Given the description of an element on the screen output the (x, y) to click on. 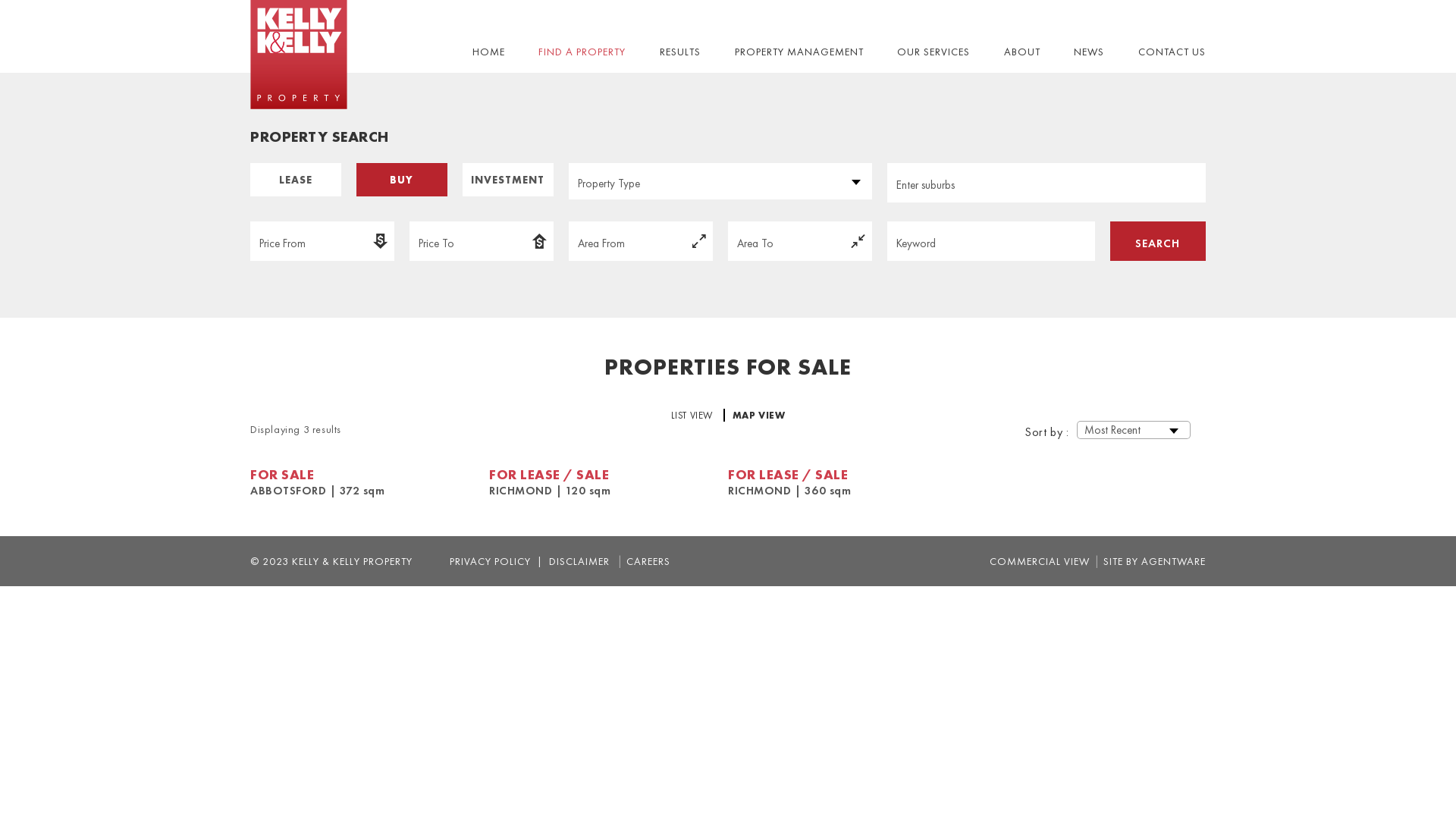
Enter suburb, postcode Element type: hover (1046, 182)
NEWS Element type: text (1088, 51)
Search Element type: text (1157, 240)
MAP VIEW Element type: text (758, 414)
To Element type: hover (481, 240)
on Element type: text (567, 162)
RESULTS Element type: text (679, 51)
PROPERTY MANAGEMENT Element type: text (798, 51)
ABOUT Element type: text (1022, 51)
FIND A PROPERTY Element type: text (581, 51)
COMMERCIAL VIEW Element type: text (1039, 560)
FOR SALE
ABBOTSFORD | 372 sqm Element type: text (369, 481)
FOR LEASE / SALE
RICHMOND | 360 sqm Element type: text (847, 481)
CAREERS Element type: text (648, 560)
FOR LEASE / SALE
RICHMOND | 120 sqm Element type: text (608, 481)
LIST VIEW Element type: text (693, 414)
  DISCLAIMER Element type: text (575, 560)
CONTACT US Element type: text (1171, 51)
From Element type: hover (640, 240)
SITE BY AGENTWARE Element type: text (1154, 560)
To Element type: hover (800, 240)
HOME Element type: text (488, 51)
OUR SERVICES Element type: text (933, 51)
From Element type: hover (322, 240)
PRIVACY POLICY  | Element type: text (495, 560)
